Given the description of an element on the screen output the (x, y) to click on. 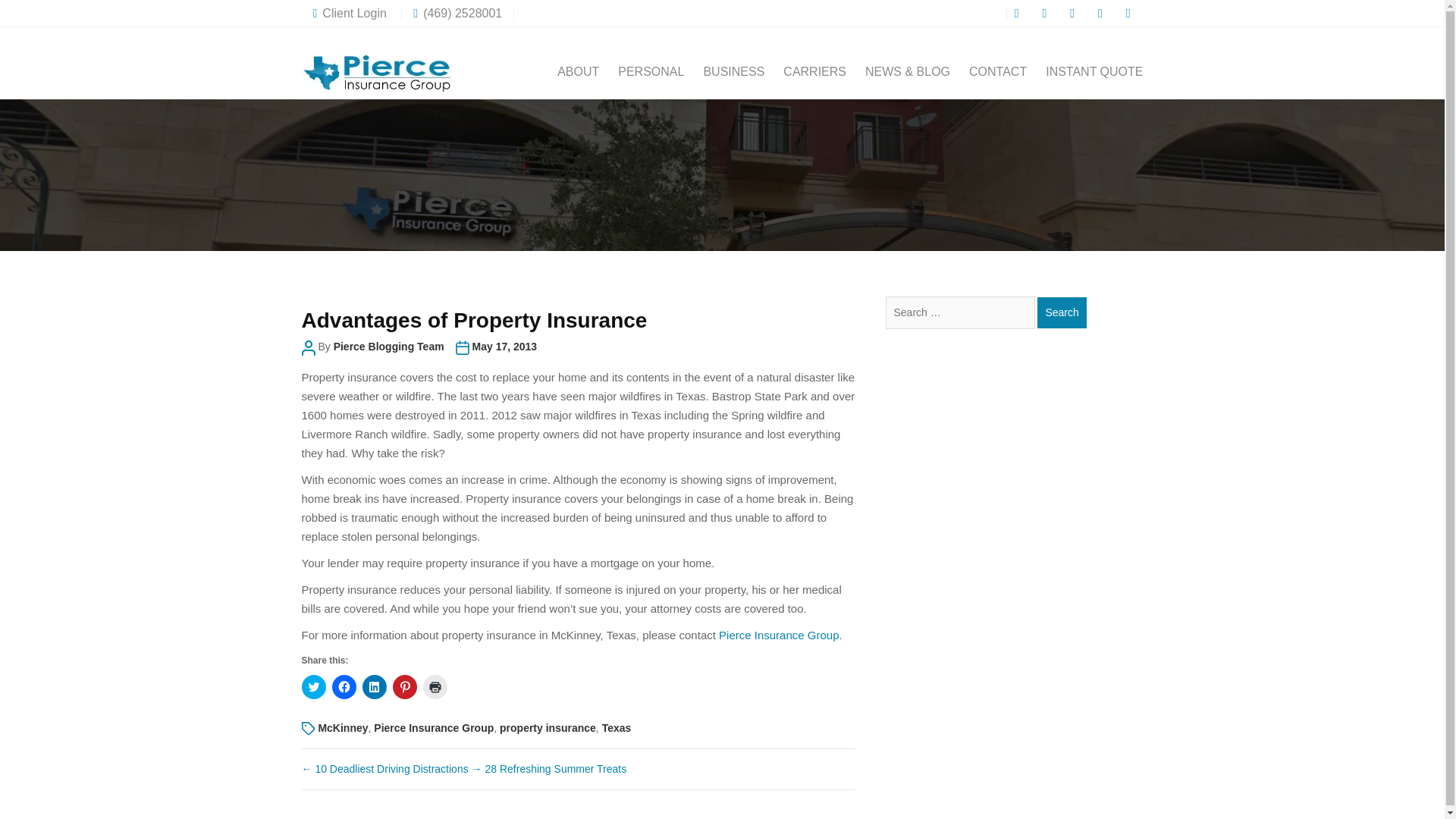
Search (1061, 312)
Texas (616, 727)
Feed (1130, 12)
Client Login (352, 12)
Pierce Insurance Group (778, 634)
Client Login (352, 12)
Click to print (434, 686)
Linkedin (1102, 12)
Search (1061, 312)
